Given the description of an element on the screen output the (x, y) to click on. 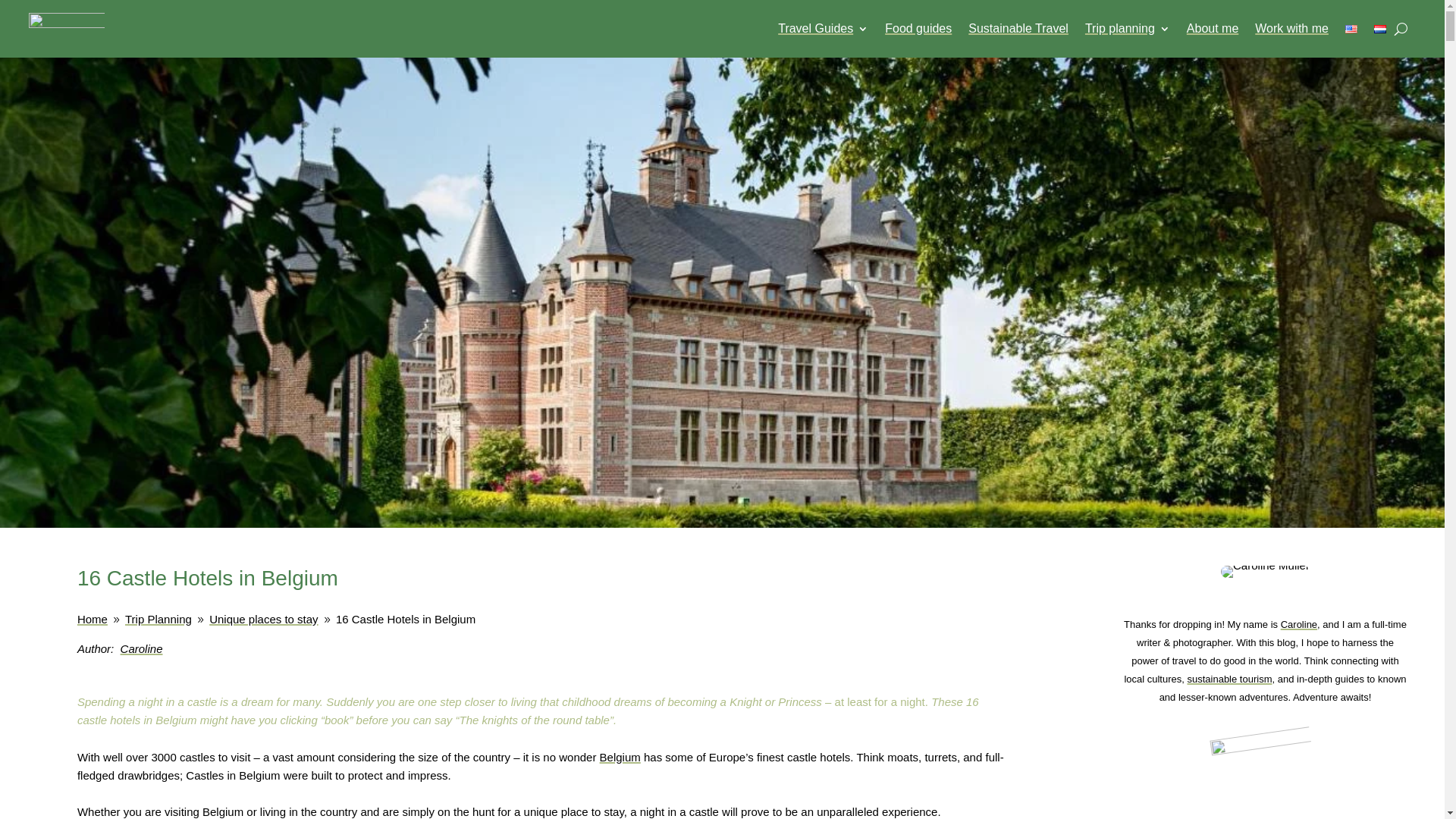
Caroline (141, 648)
Work with me (1291, 28)
Trip Planning (158, 618)
About me (1212, 28)
Unique places to stay (263, 618)
Home (92, 618)
Trip planning (1127, 28)
Sustainable Travel (1018, 28)
Food guides (918, 28)
Travel Guides (822, 28)
